Given the description of an element on the screen output the (x, y) to click on. 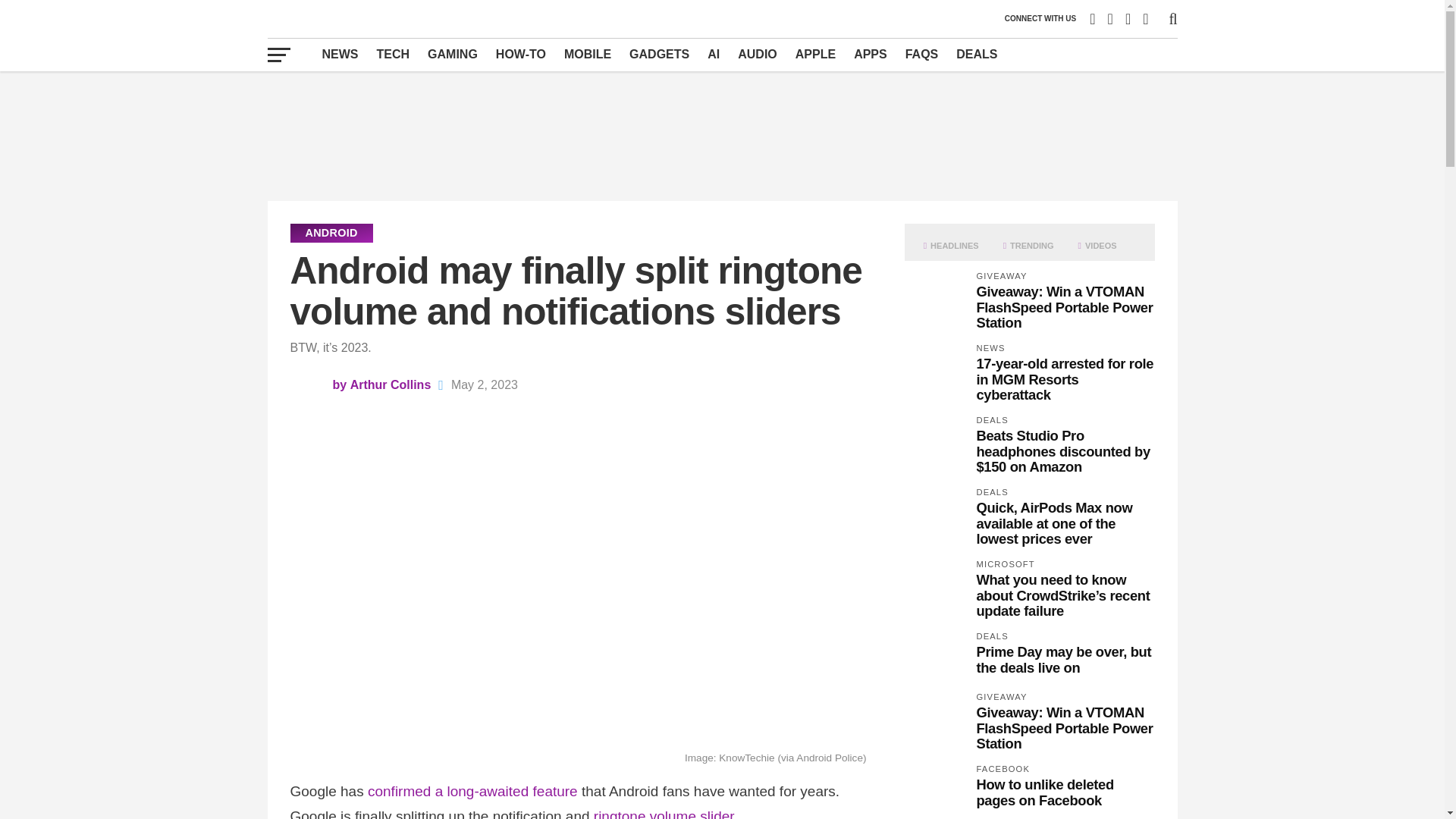
NEWS (339, 54)
APPS (870, 54)
GADGETS (659, 54)
HOW-TO (520, 54)
FAQS (921, 54)
ringtone volume slider (663, 813)
AI (713, 54)
Posts by Arthur Collins (390, 384)
DEALS (976, 54)
MOBILE (587, 54)
Arthur Collins (390, 384)
AUDIO (757, 54)
APPLE (815, 54)
GAMING (452, 54)
TECH (392, 54)
